Given the description of an element on the screen output the (x, y) to click on. 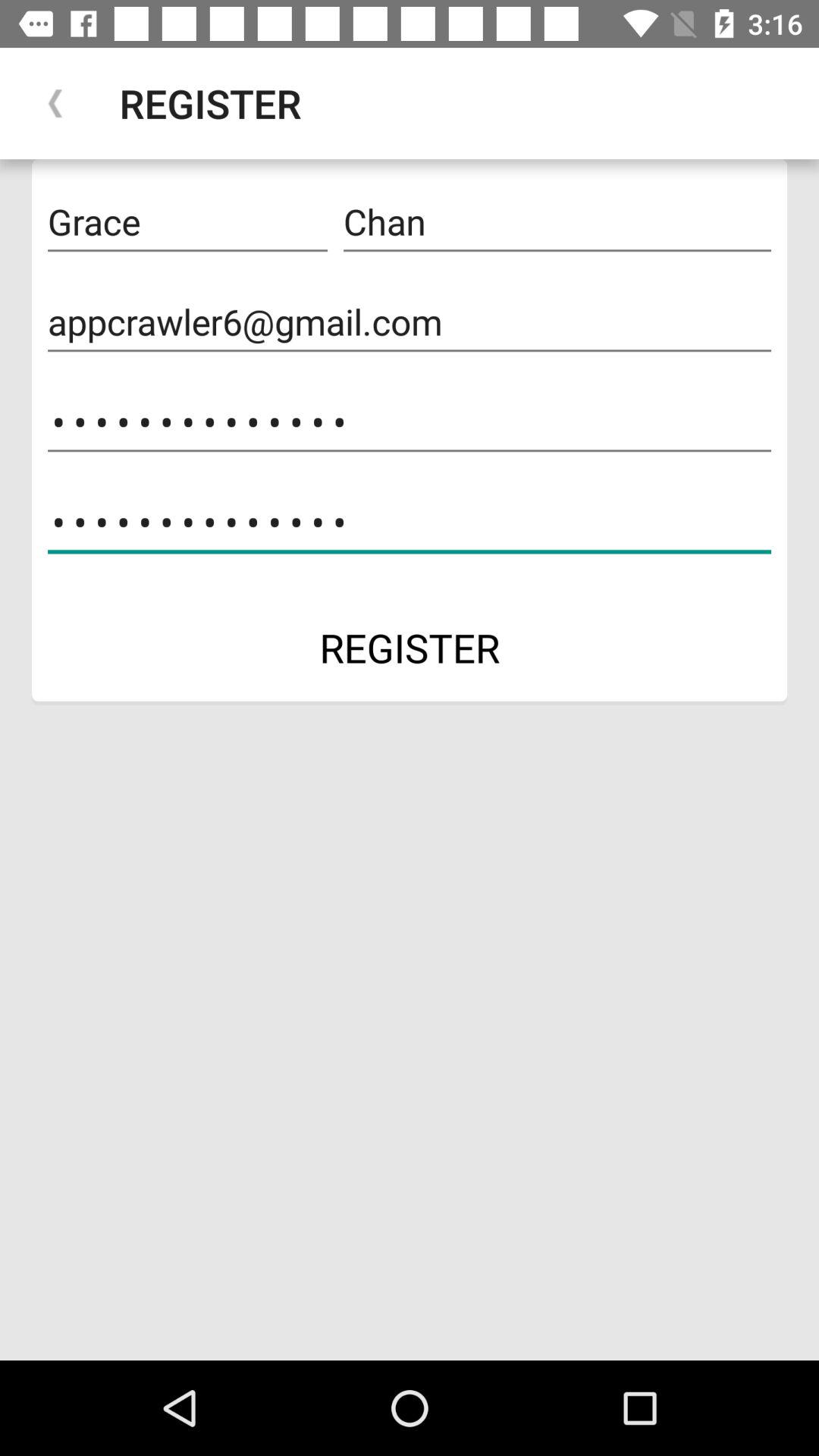
choose grace item (187, 222)
